Given the description of an element on the screen output the (x, y) to click on. 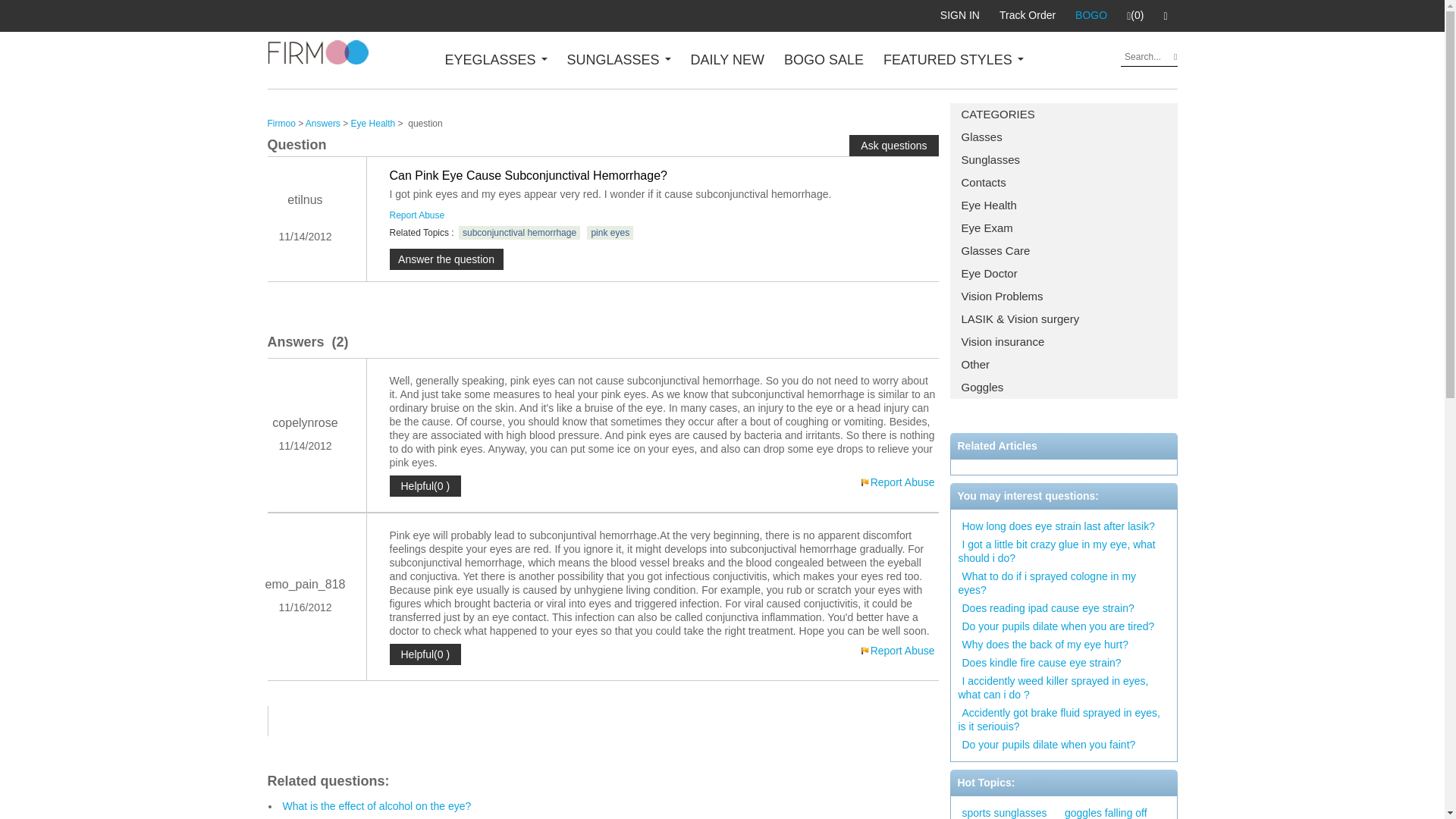
Track Order (1027, 15)
EYEGLASSES (495, 59)
SIGN IN (960, 15)
BOGO (1090, 15)
